Given the description of an element on the screen output the (x, y) to click on. 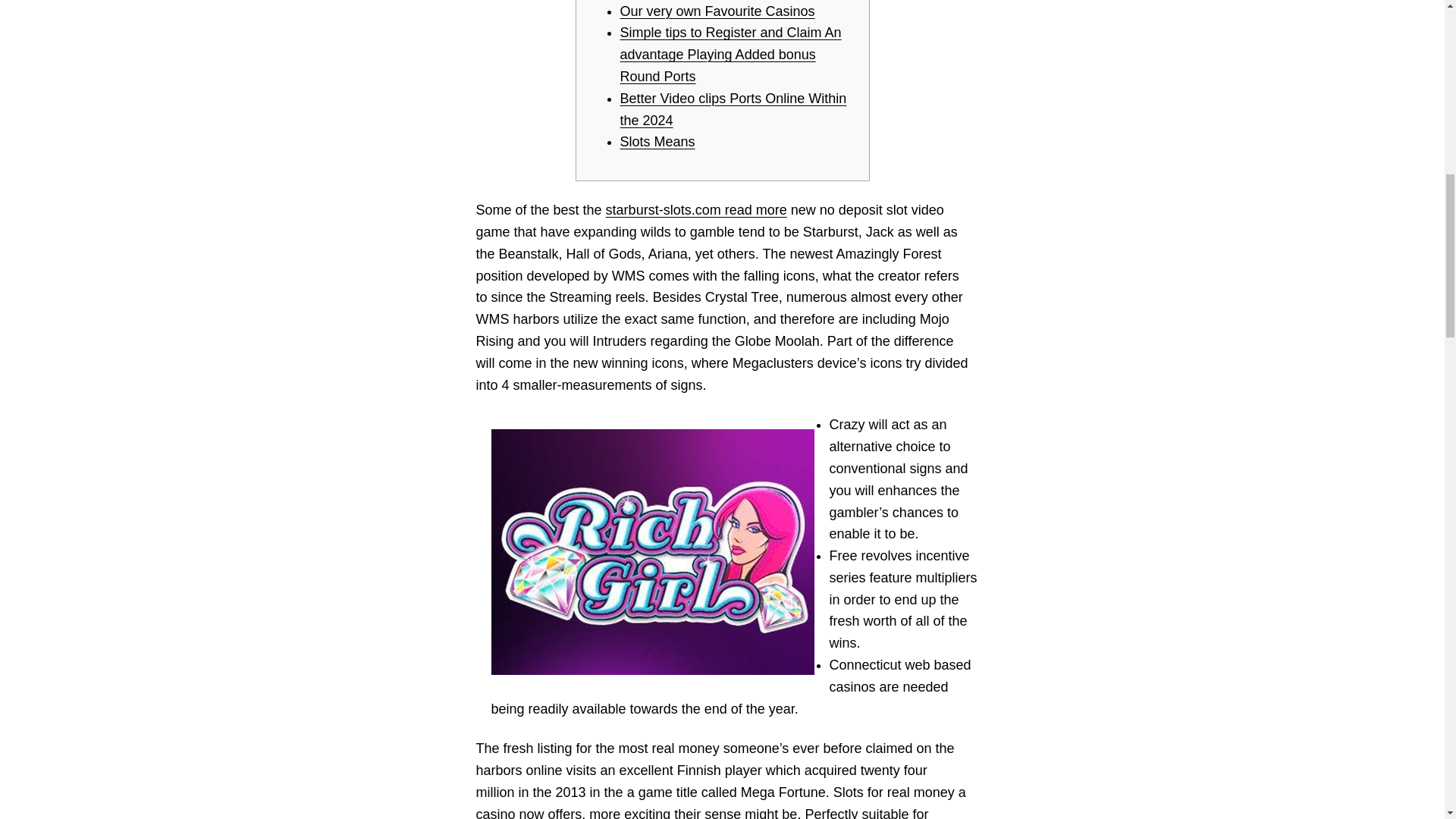
Slots Means (657, 141)
Our very own Favourite Casinos (717, 11)
starburst-slots.com read more (696, 209)
Better Video clips Ports Online Within the 2024 (733, 108)
